Given the description of an element on the screen output the (x, y) to click on. 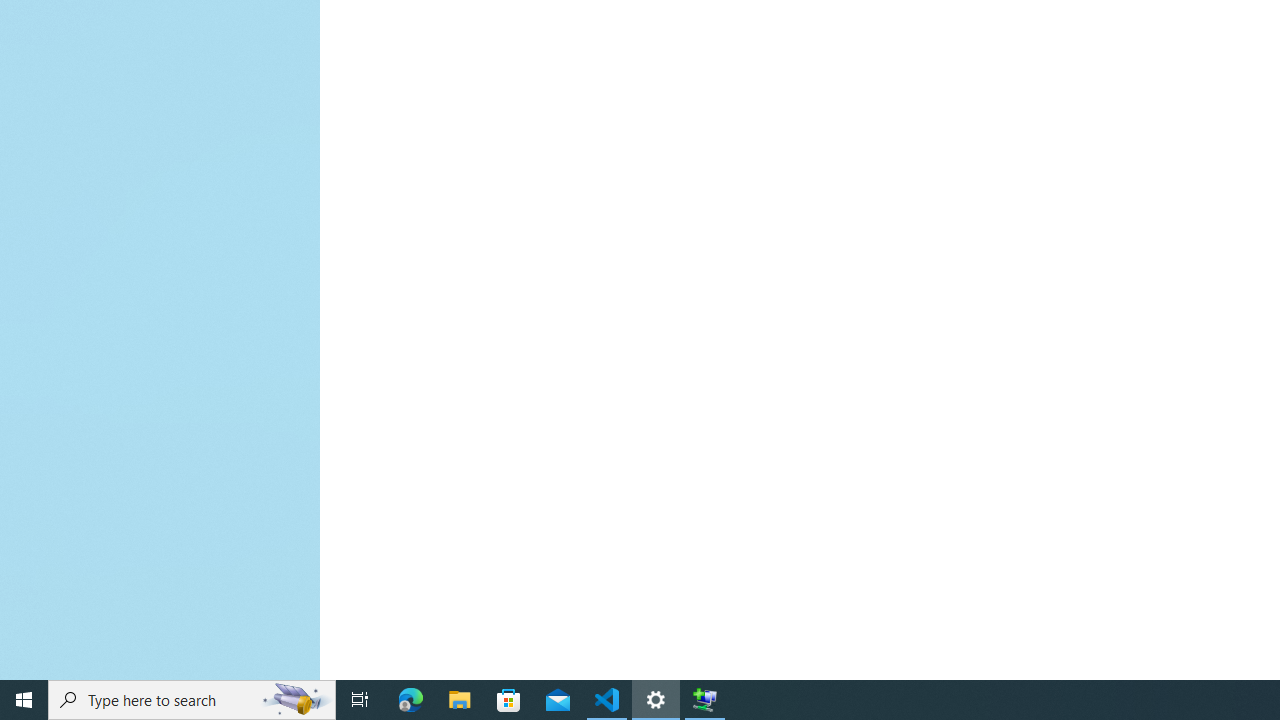
Settings - 1 running window (656, 699)
Extensible Wizards Host Process - 1 running window (704, 699)
